Given the description of an element on the screen output the (x, y) to click on. 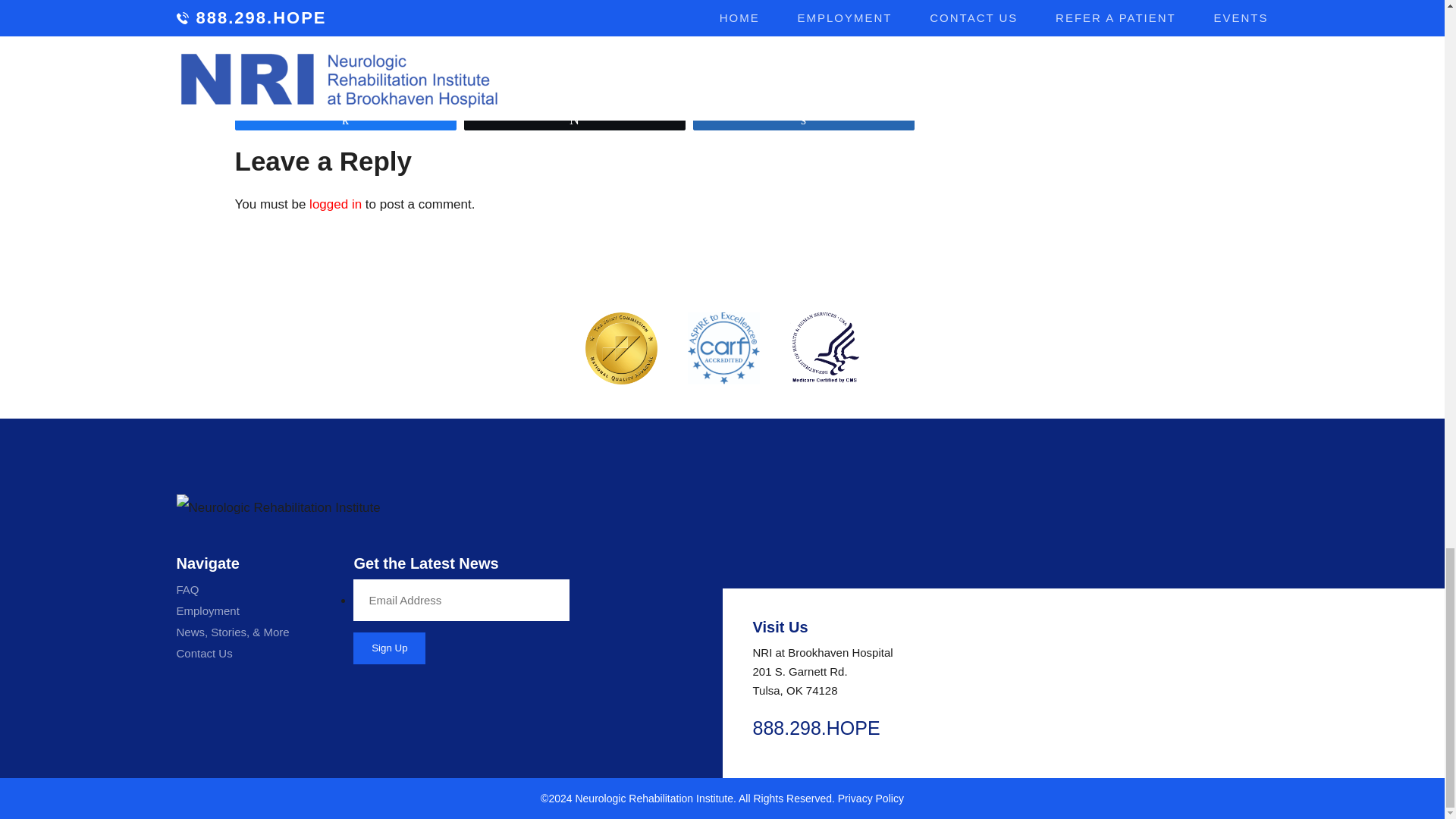
Sign Up (389, 648)
